Given the description of an element on the screen output the (x, y) to click on. 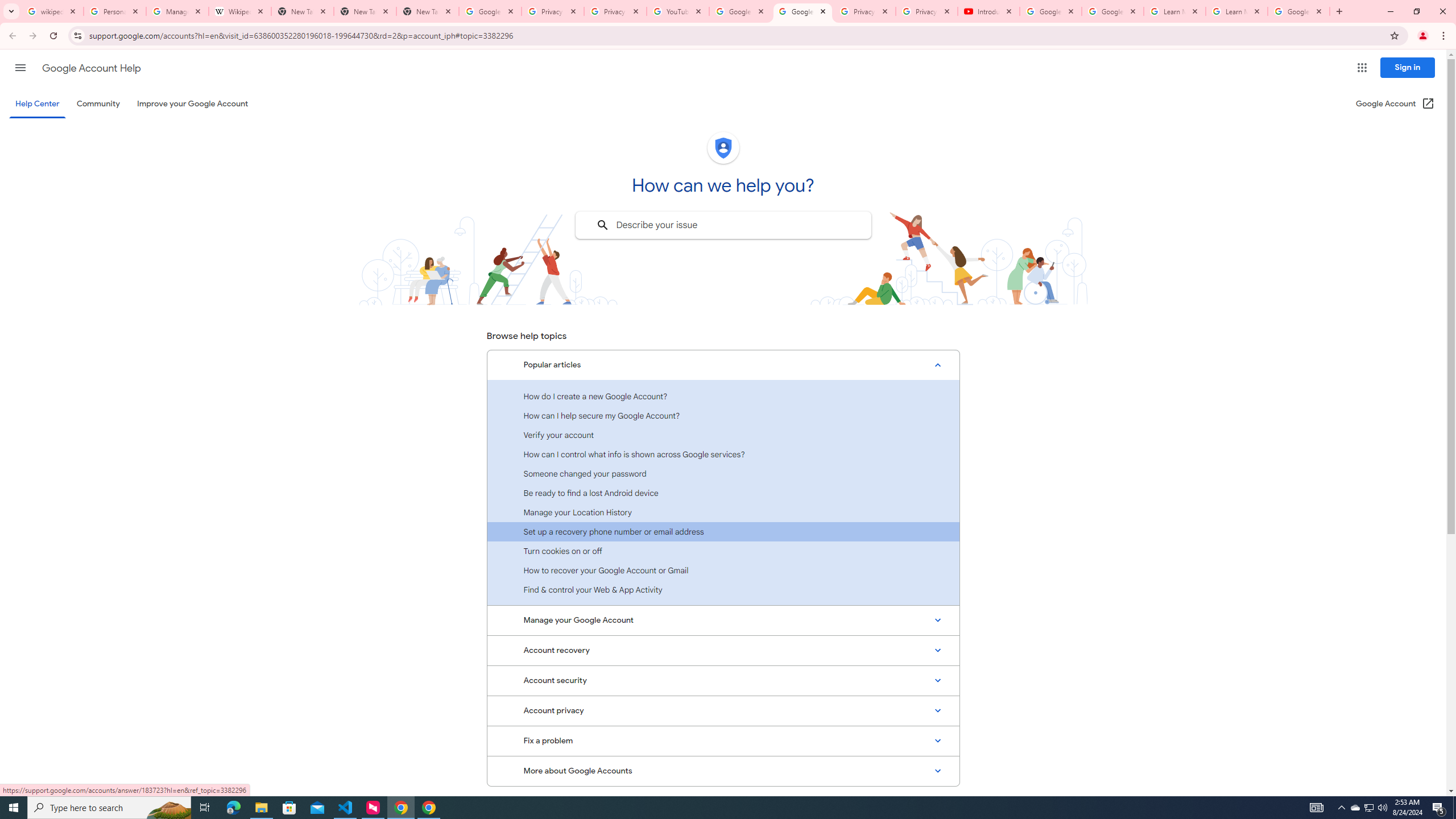
New Tab (365, 11)
Google Account Help (740, 11)
Community (97, 103)
New Tab (427, 11)
Someone changed your password (722, 473)
How can I help secure my Google Account? (722, 415)
Fix a problem (722, 740)
Google Drive: Sign-in (490, 11)
YouTube (678, 11)
